Given the description of an element on the screen output the (x, y) to click on. 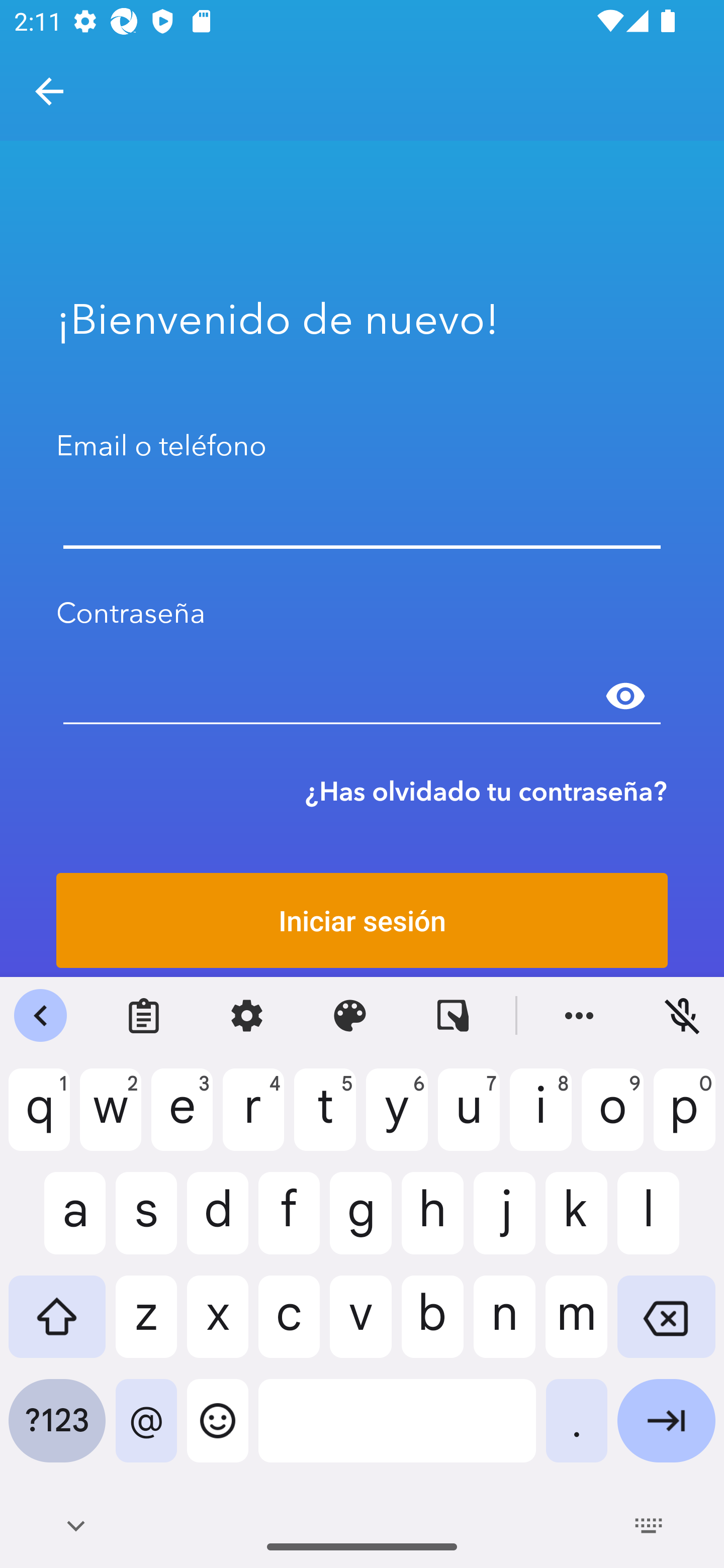
Navegar hacia arriba (49, 91)
Mostrar contraseña (625, 695)
¿Has olvidado tu contraseña? (486, 790)
Iniciar sesión (361, 920)
